Given the description of an element on the screen output the (x, y) to click on. 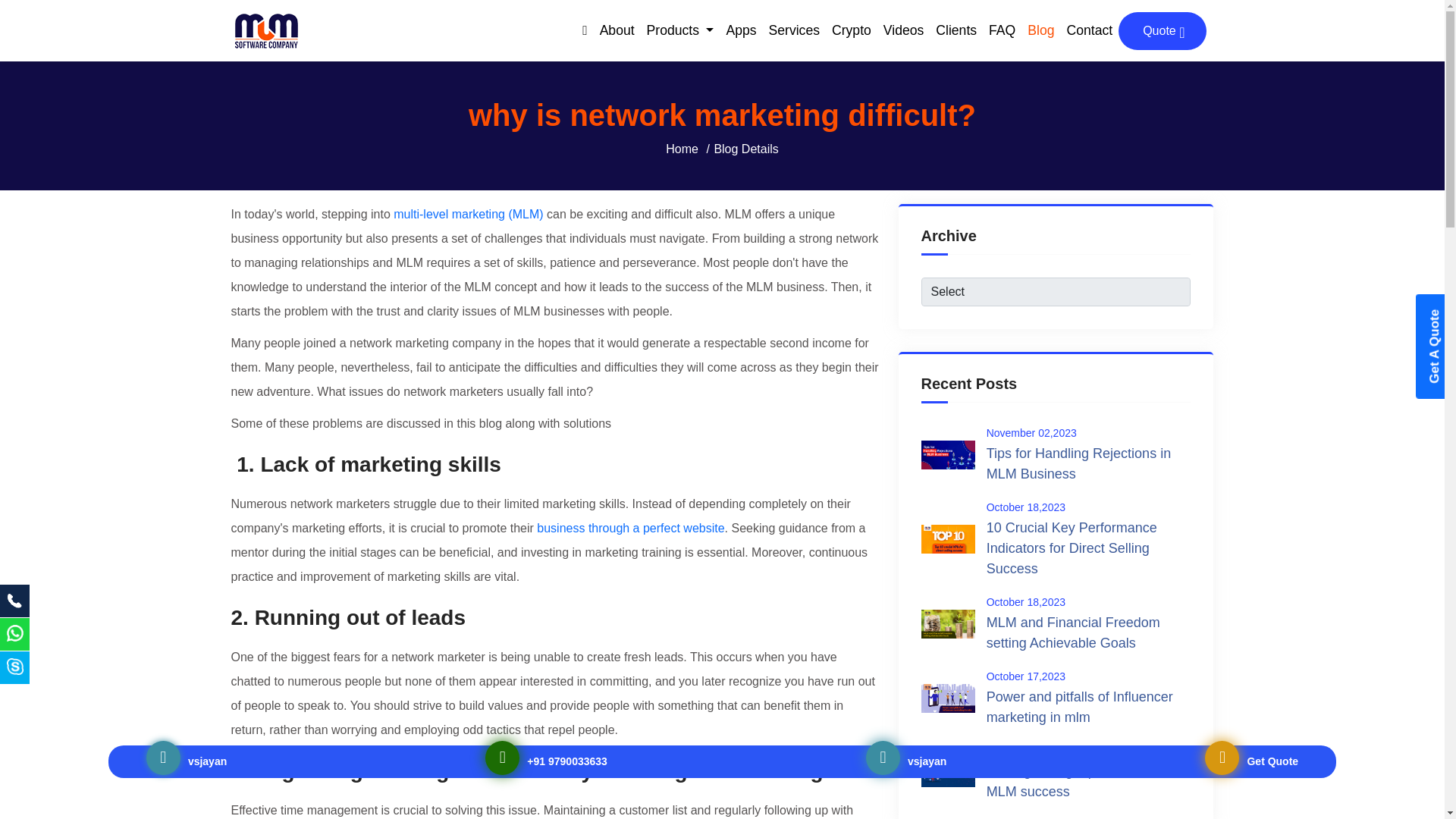
About (617, 29)
Clients (956, 29)
Home (681, 148)
Products (680, 29)
Blog (1040, 29)
FAQ (1002, 29)
Services (793, 29)
business through a perfect website (630, 527)
Quote (1161, 30)
Videos (903, 29)
Contact (1090, 29)
Apps (740, 29)
Crypto (851, 29)
